Given the description of an element on the screen output the (x, y) to click on. 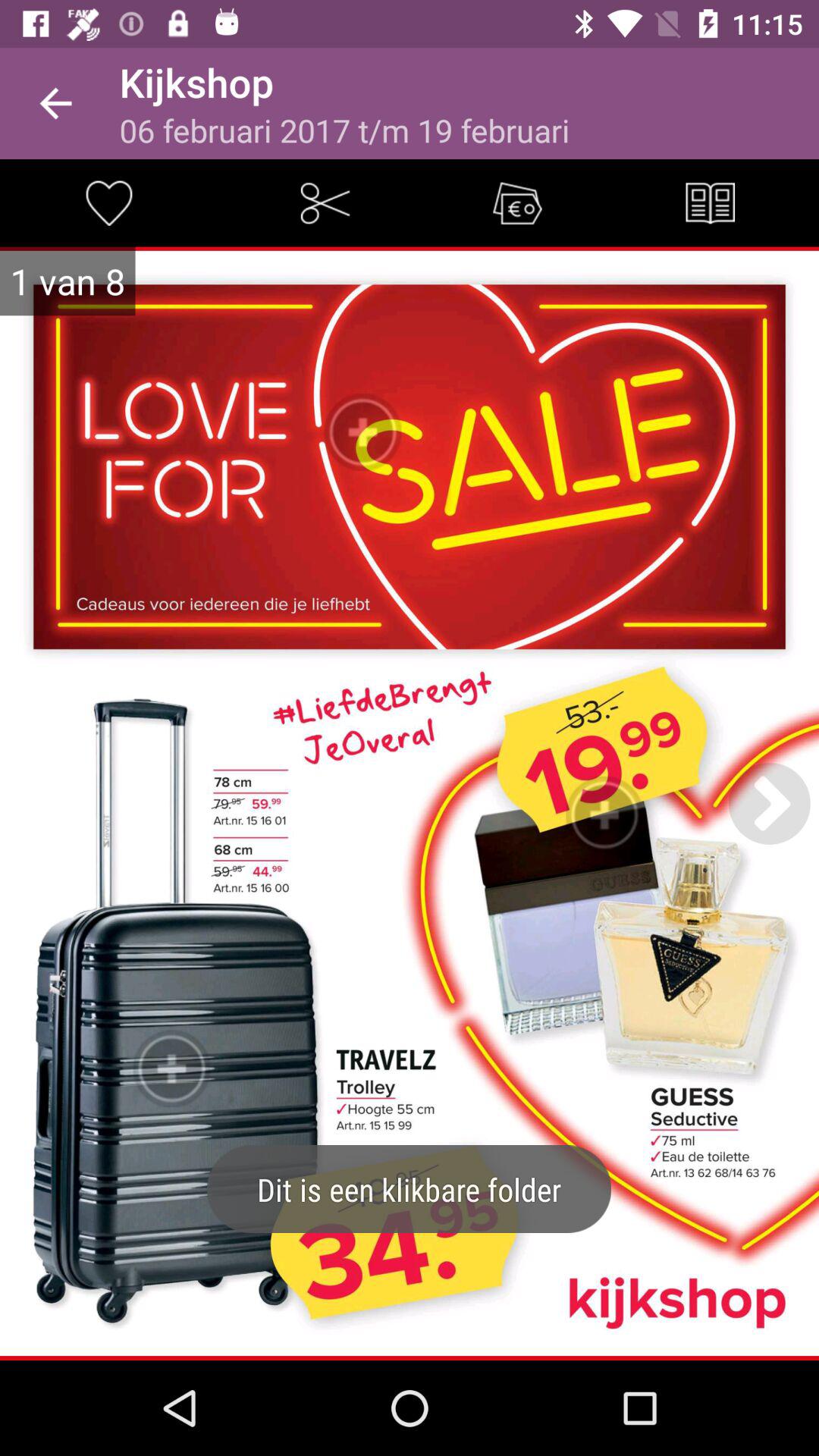
like option (108, 202)
